Given the description of an element on the screen output the (x, y) to click on. 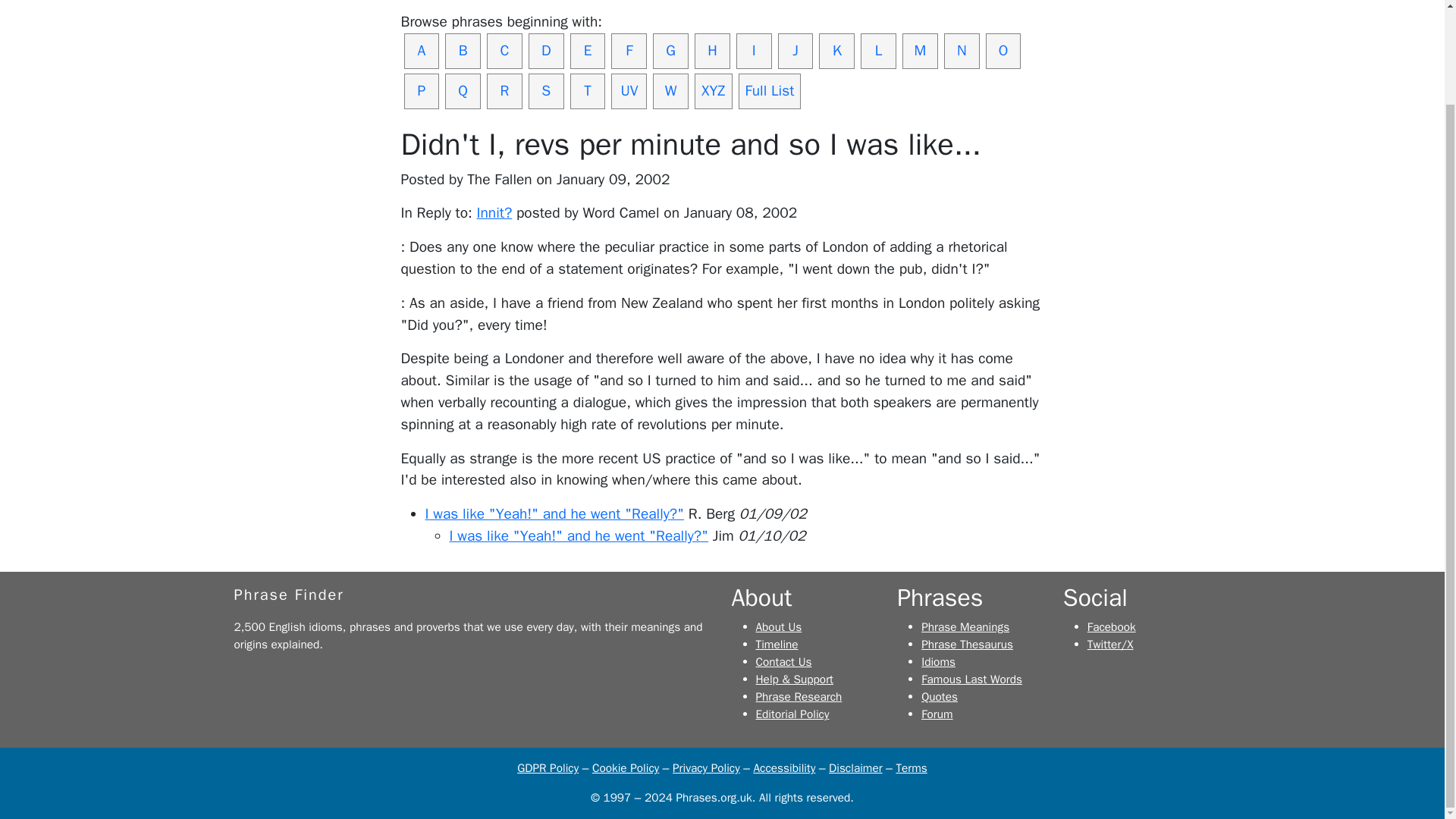
R (504, 90)
Q (462, 90)
Sayings and idioms that begin with the letter O (1003, 50)
T (587, 90)
Sayings and idioms that begin with the letter N (961, 50)
Sayings and idioms that begin with the letter P (421, 90)
Sayings and idioms that begin with the letter L (878, 50)
XYZ (713, 90)
Sayings and idioms that begin with the letter I (753, 50)
D (546, 50)
Phrase Finder (287, 594)
F (628, 50)
Sayings and idioms that begin with the letter G (670, 50)
N (961, 50)
Sayings and idioms that begin with the letter Q (462, 90)
